Given the description of an element on the screen output the (x, y) to click on. 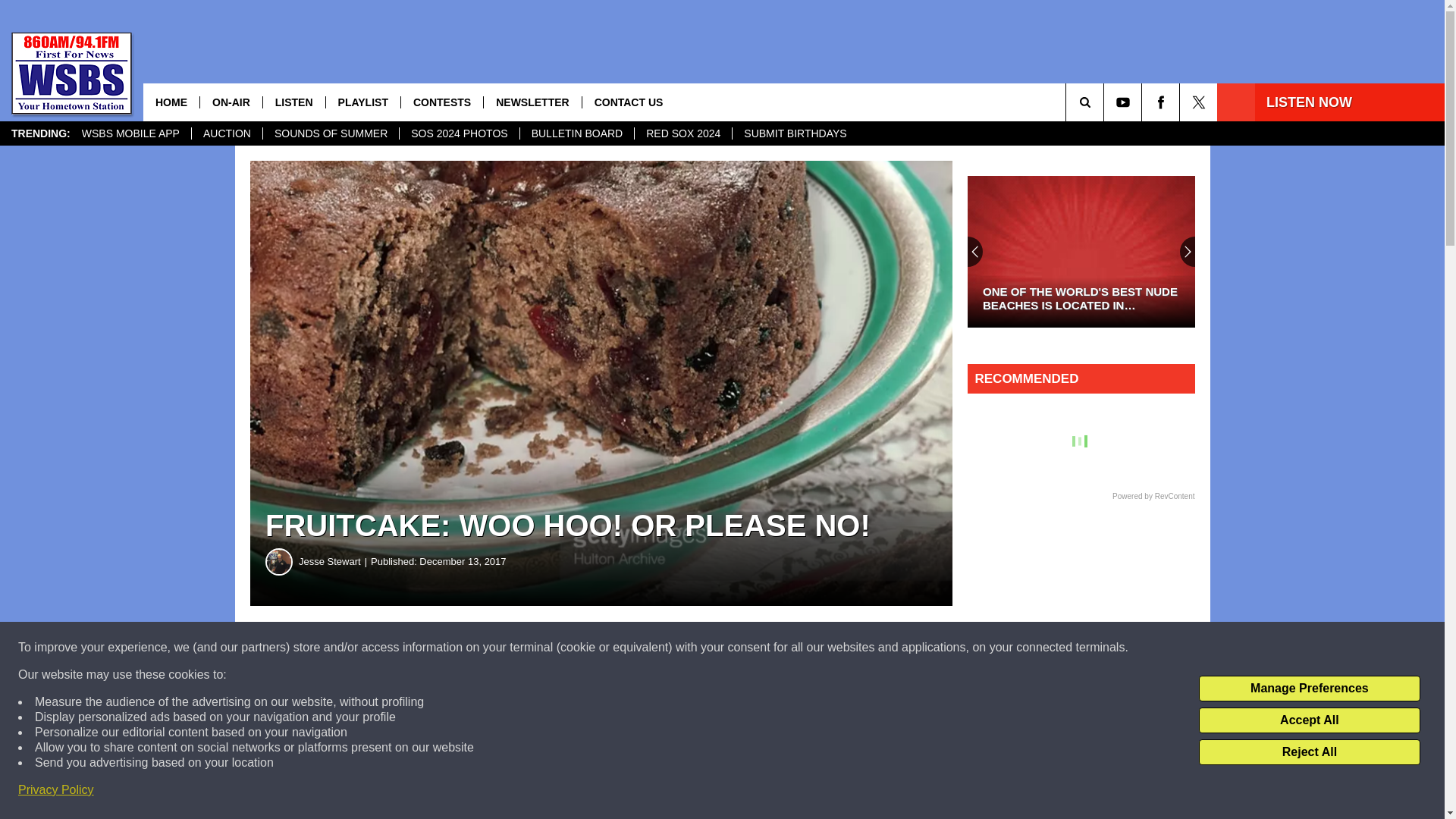
SEARCH (1106, 102)
Accept All (1309, 720)
Privacy Policy (55, 789)
WSBS MOBILE APP (129, 133)
Share on Twitter (741, 647)
RED SOX 2024 (682, 133)
PLAYLIST (362, 102)
SOUNDS OF SUMMER (330, 133)
ON-AIR (230, 102)
Reject All (1309, 751)
Manage Preferences (1309, 688)
CONTACT US (627, 102)
SOS 2024 PHOTOS (458, 133)
SUBMIT BIRTHDAYS (794, 133)
LISTEN (293, 102)
